Given the description of an element on the screen output the (x, y) to click on. 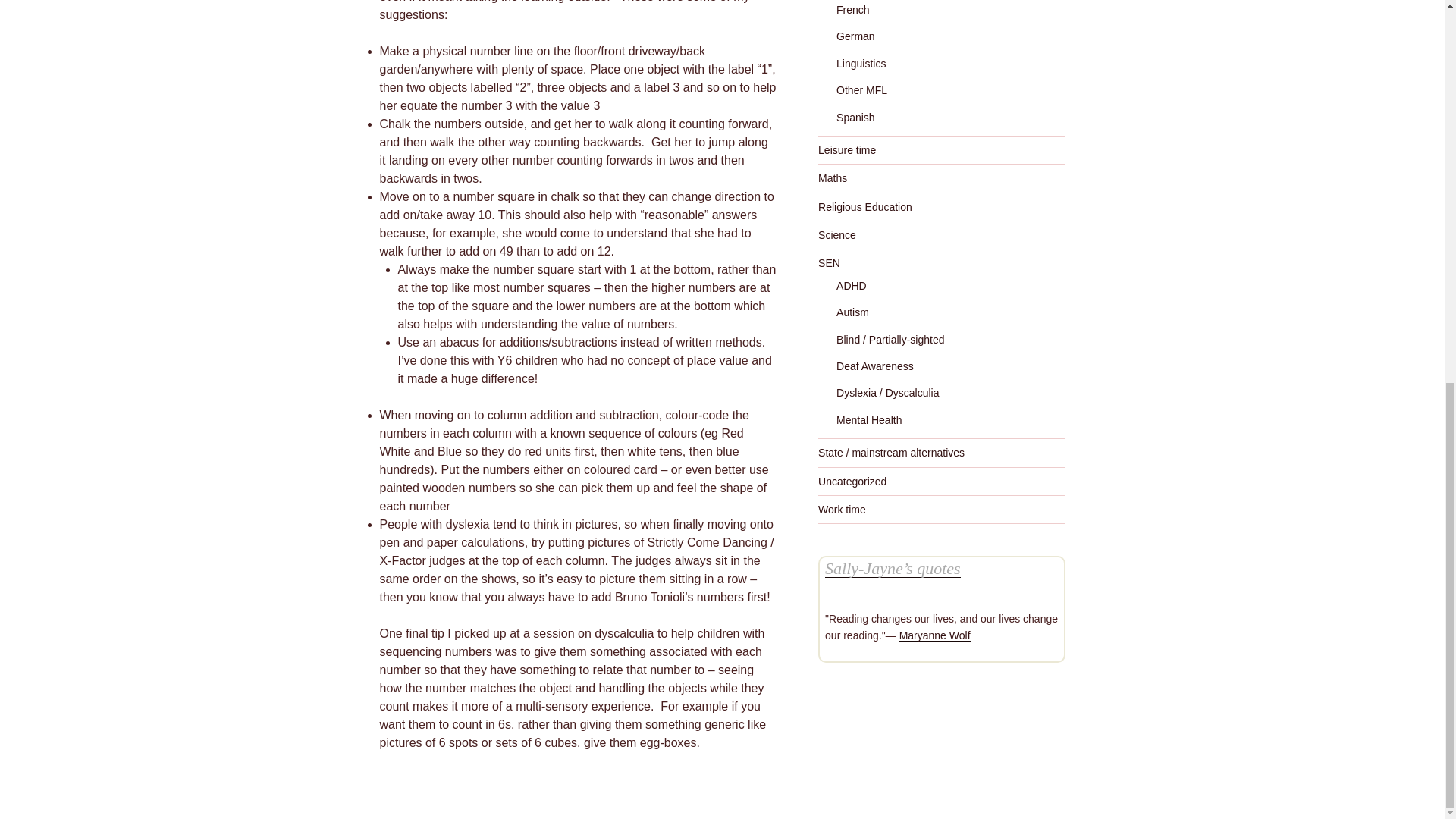
Linguistics (860, 63)
Maths (832, 177)
Spanish (855, 116)
Other MFL (860, 90)
French (852, 9)
Religious Education (865, 206)
Leisure time (847, 150)
Maryanne Wolf quotes (935, 635)
SEN (829, 263)
Science (837, 234)
